Given the description of an element on the screen output the (x, y) to click on. 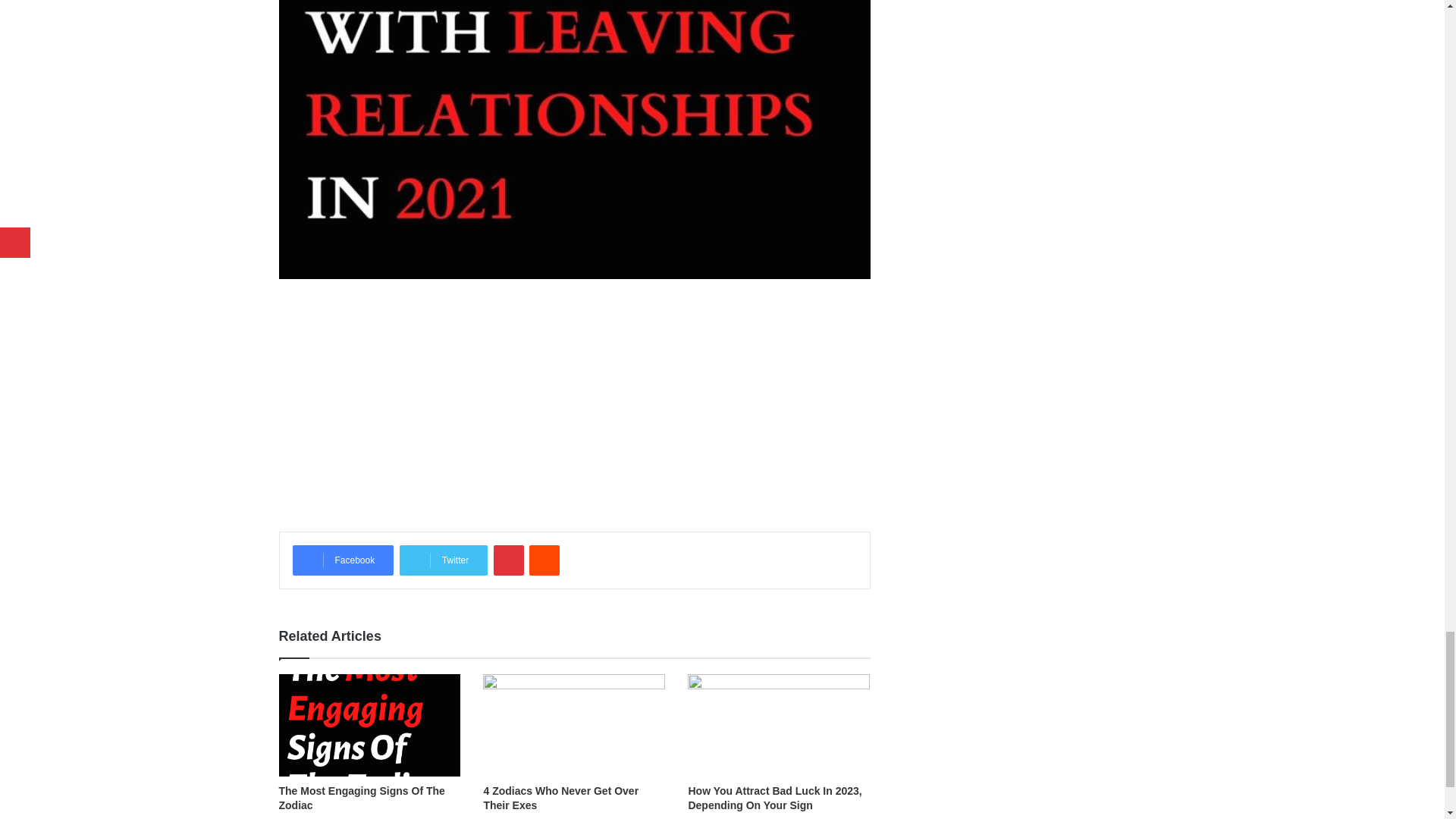
4 Zodiacs Who Never Get Over Their Exes (561, 797)
Facebook (343, 560)
Pinterest (508, 560)
The Most Engaging Signs Of The Zodiac (362, 797)
Twitter (442, 560)
Reddit (544, 560)
Twitter (442, 560)
Facebook (343, 560)
How You Attract Bad Luck In 2023, Depending On Your Sign (774, 797)
